Given the description of an element on the screen output the (x, y) to click on. 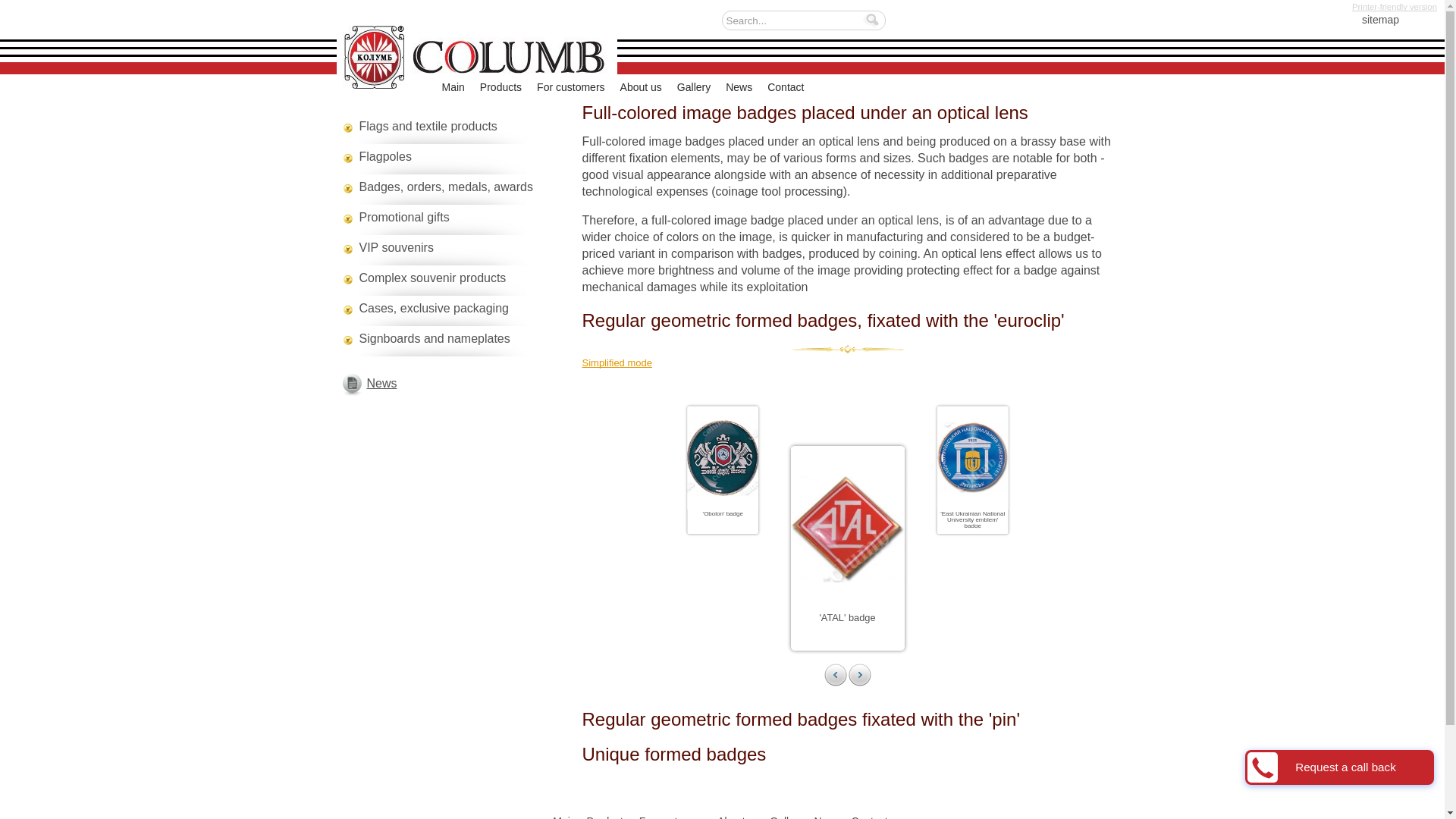
Main (452, 87)
'East Ukrainian National University emblem' badge (991, 524)
News (738, 87)
Contact (785, 87)
Simplified mode (847, 363)
For customers (570, 87)
Regular geometric formed badges, fixated with the 'euroclip' (847, 320)
sitemap (1368, 23)
Products (500, 87)
Printer-friendly version (1394, 7)
sitemap (1368, 23)
'ATAL' badge (846, 617)
About us (641, 87)
Gallery (693, 87)
